Given the description of an element on the screen output the (x, y) to click on. 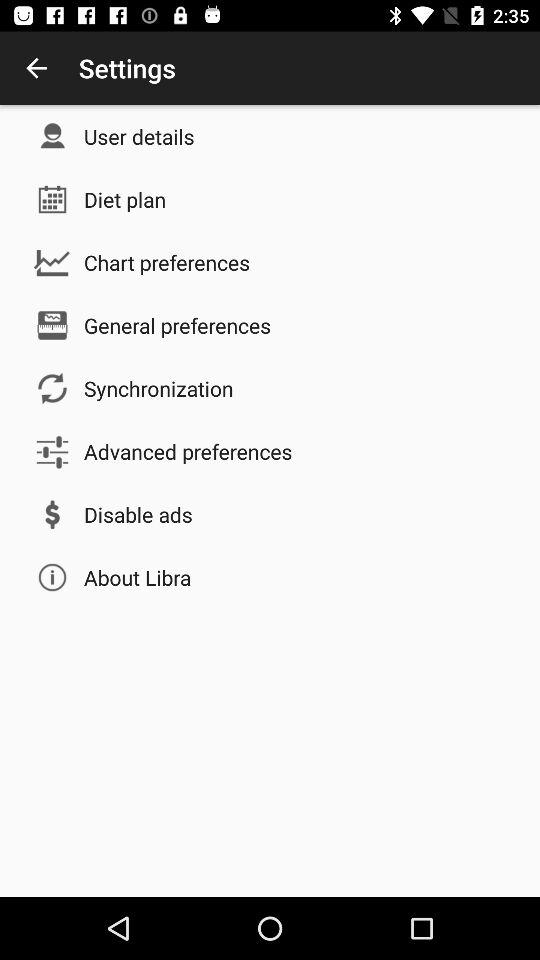
press the item to the left of the settings app (36, 68)
